Given the description of an element on the screen output the (x, y) to click on. 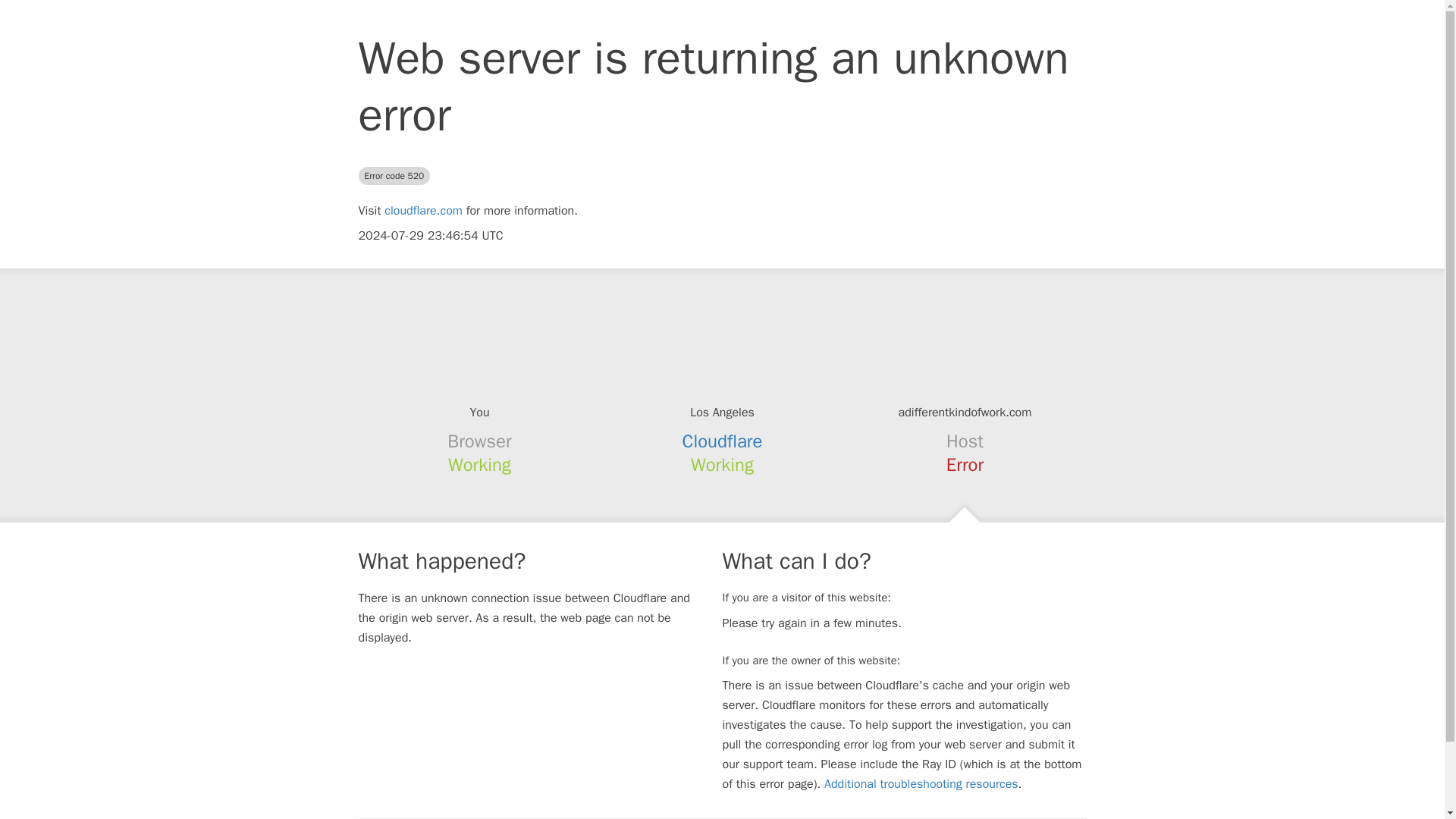
cloudflare.com (423, 210)
Additional troubleshooting resources (920, 783)
Cloudflare (722, 440)
